Given the description of an element on the screen output the (x, y) to click on. 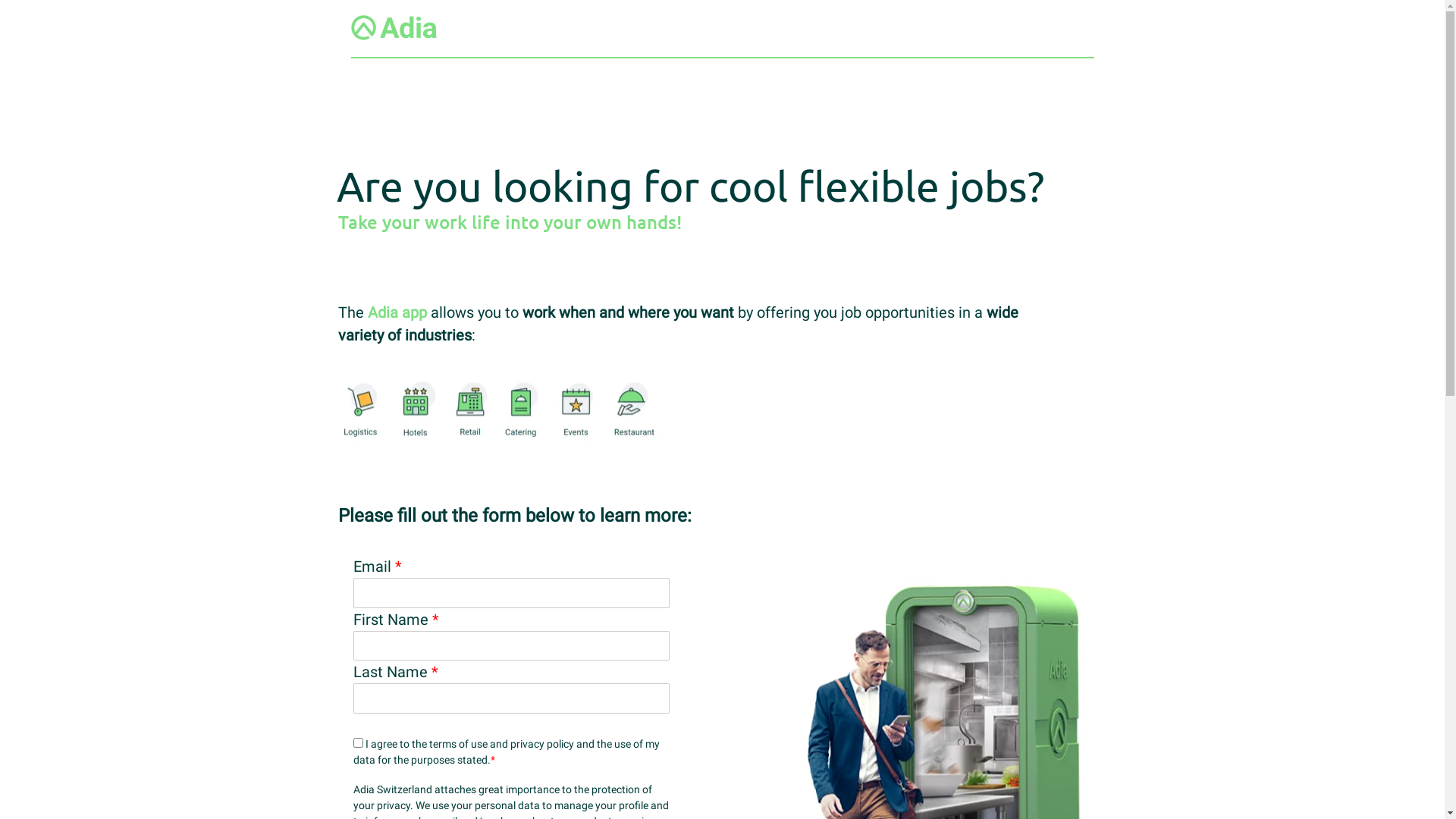
Design ohne Titel - 2021-02-10T143709.348 Element type: hover (499, 409)
